Given the description of an element on the screen output the (x, y) to click on. 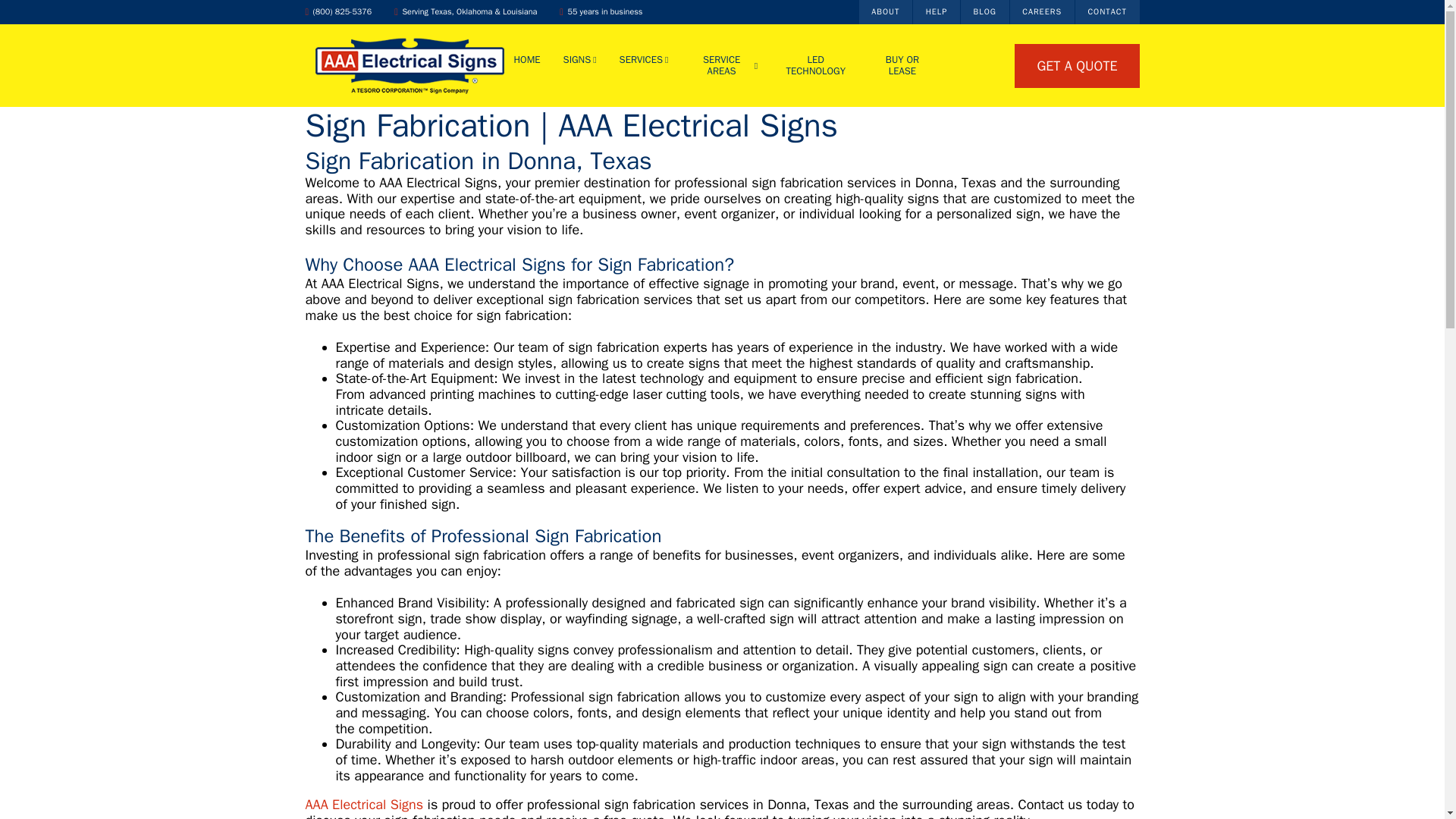
BLOG (984, 12)
HOME (526, 65)
ABOUT (885, 12)
SERVICE AREAS (723, 65)
HELP (935, 12)
SIGNS (579, 60)
CAREERS (1042, 12)
SERVICES (644, 60)
CONTACT (1107, 12)
